Given the description of an element on the screen output the (x, y) to click on. 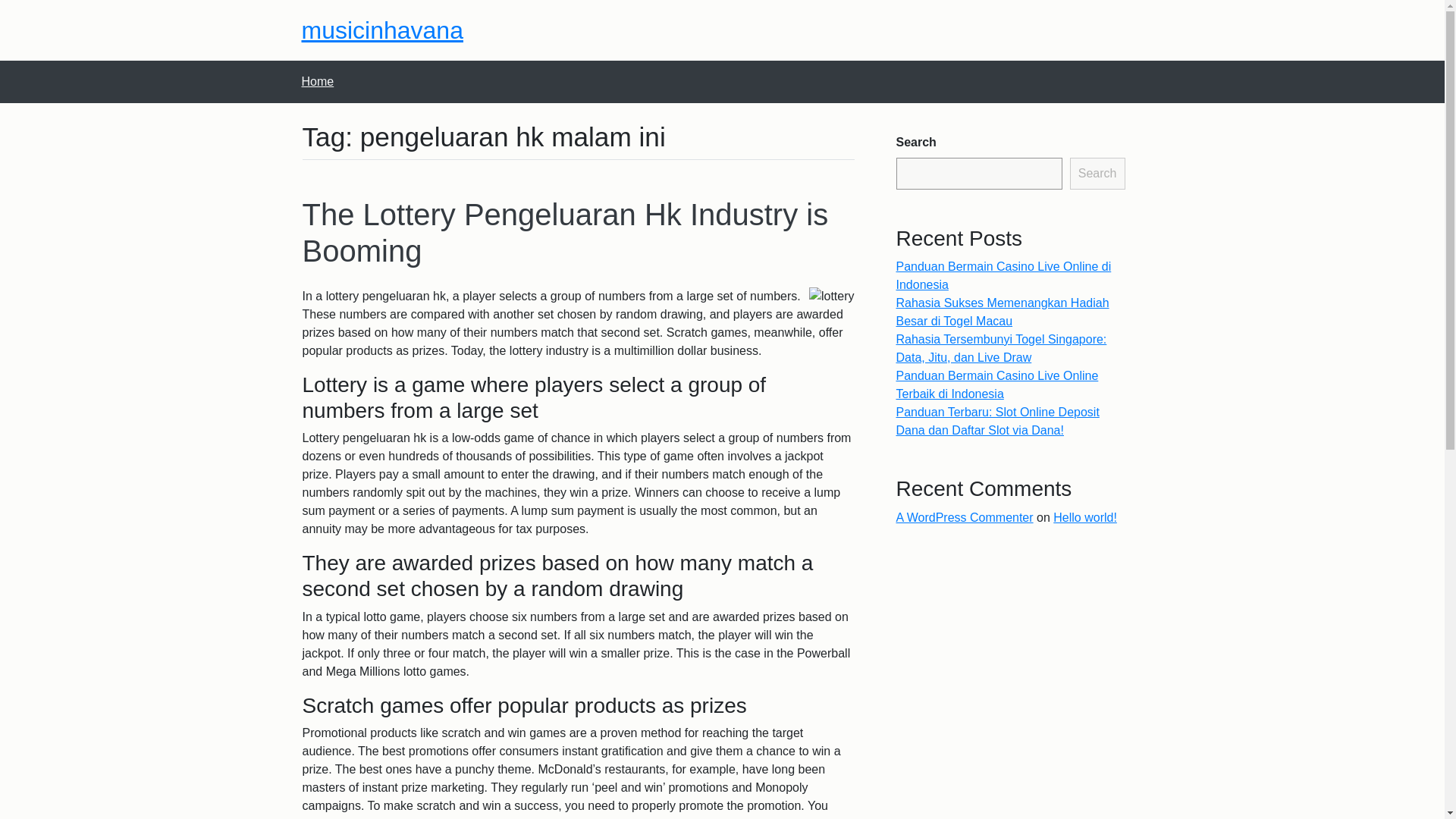
Rahasia Sukses Memenangkan Hadiah Besar di Togel Macau (1002, 311)
Panduan Bermain Casino Live Online di Indonesia (1004, 275)
musicinhavana (382, 30)
A WordPress Commenter (964, 517)
The Lottery Pengeluaran Hk Industry is Booming (564, 232)
Search (1097, 173)
Hello world! (1084, 517)
Panduan Bermain Casino Live Online Terbaik di Indonesia (997, 384)
Home (317, 81)
